Given the description of an element on the screen output the (x, y) to click on. 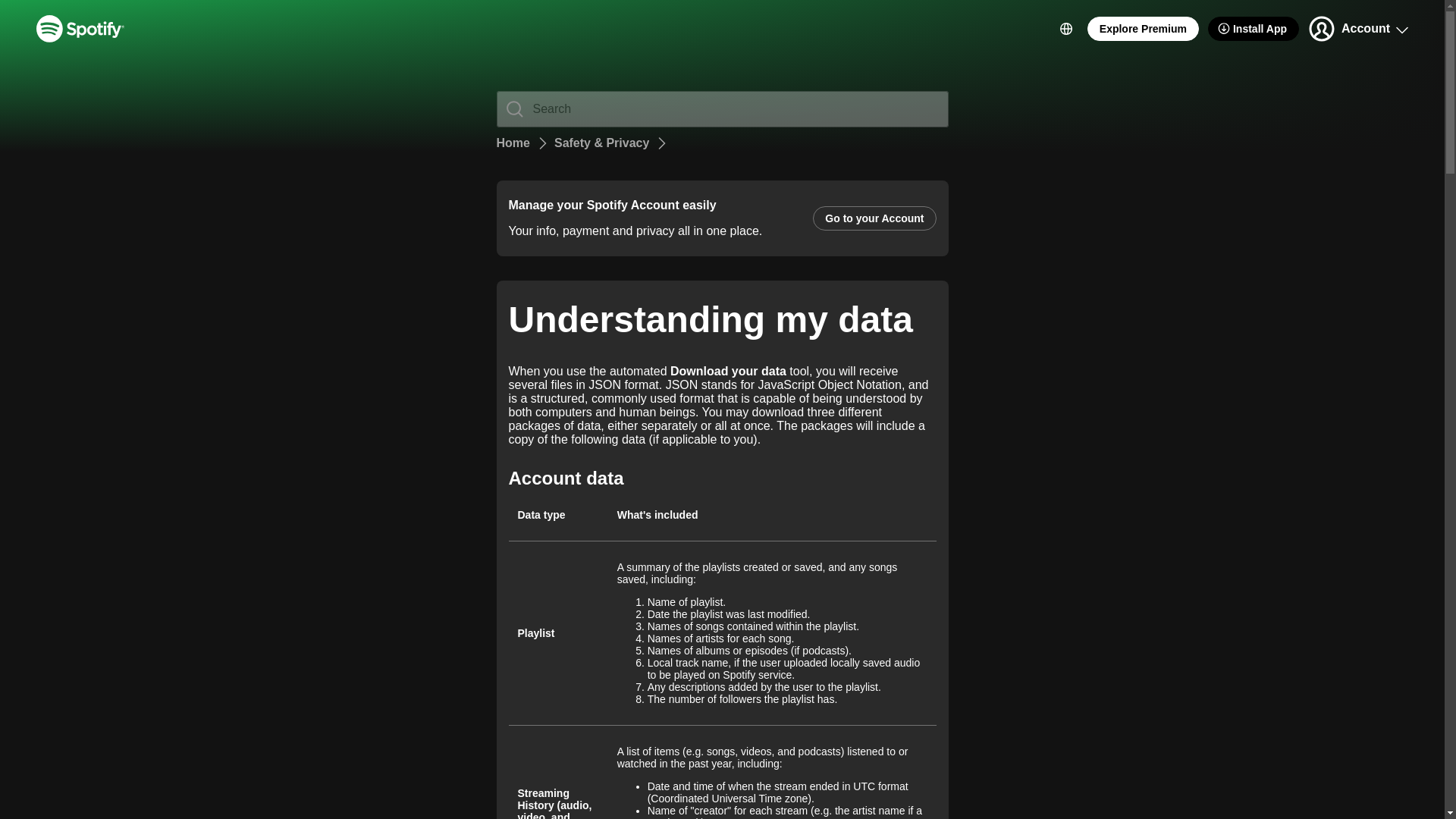
Install App (1253, 28)
Spotify Support Site (79, 28)
Explore Premium (1142, 28)
Account (1357, 28)
Home (512, 142)
Go to your Account (874, 218)
